Given the description of an element on the screen output the (x, y) to click on. 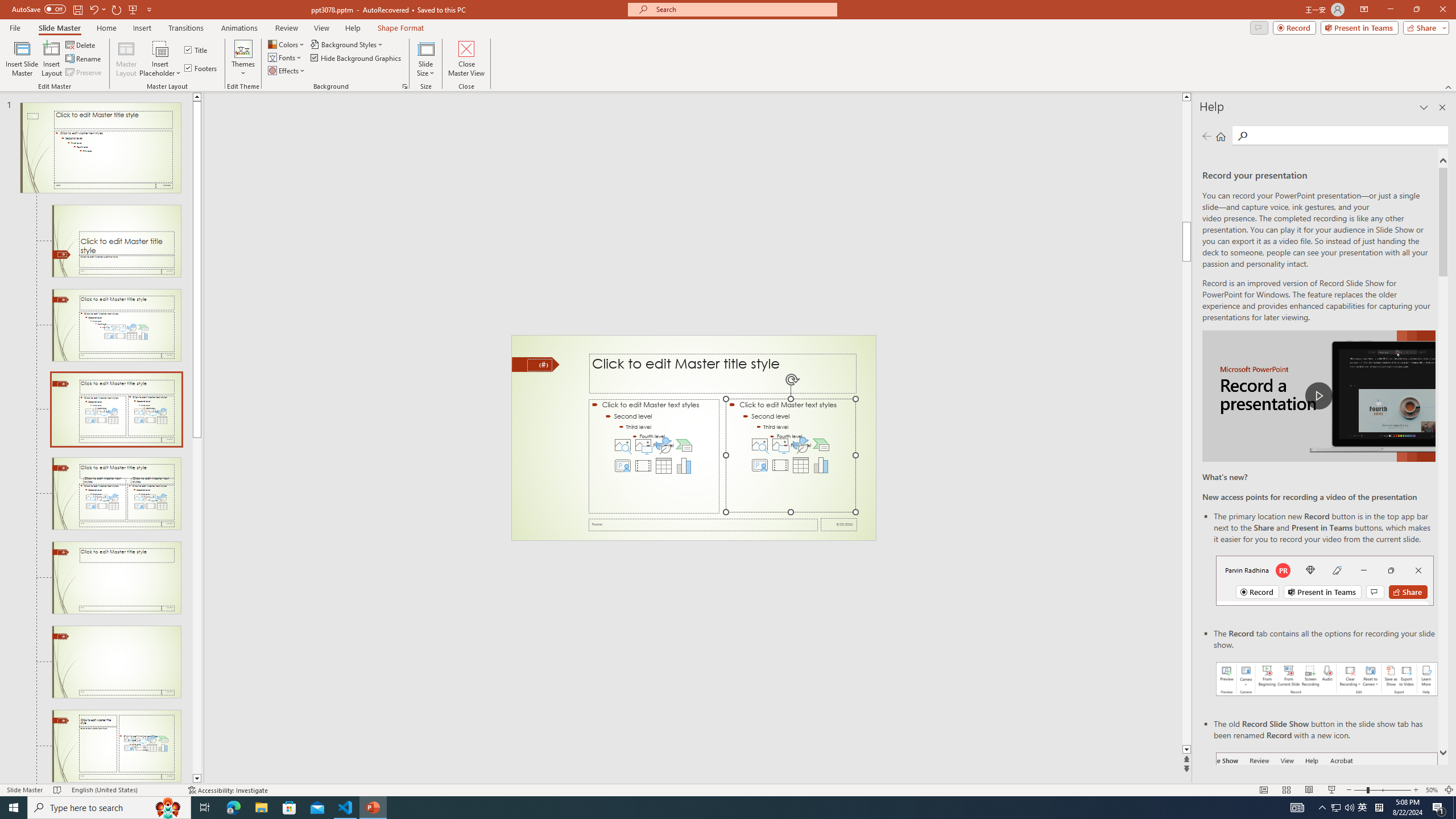
Slide Size (425, 58)
Themes (243, 58)
Date (839, 524)
Footers (201, 67)
Rename (84, 58)
Insert Slide Master (21, 58)
Insert an Icon (800, 444)
Stock Images (759, 444)
Previous page (1206, 136)
Close Master View (466, 58)
